Given the description of an element on the screen output the (x, y) to click on. 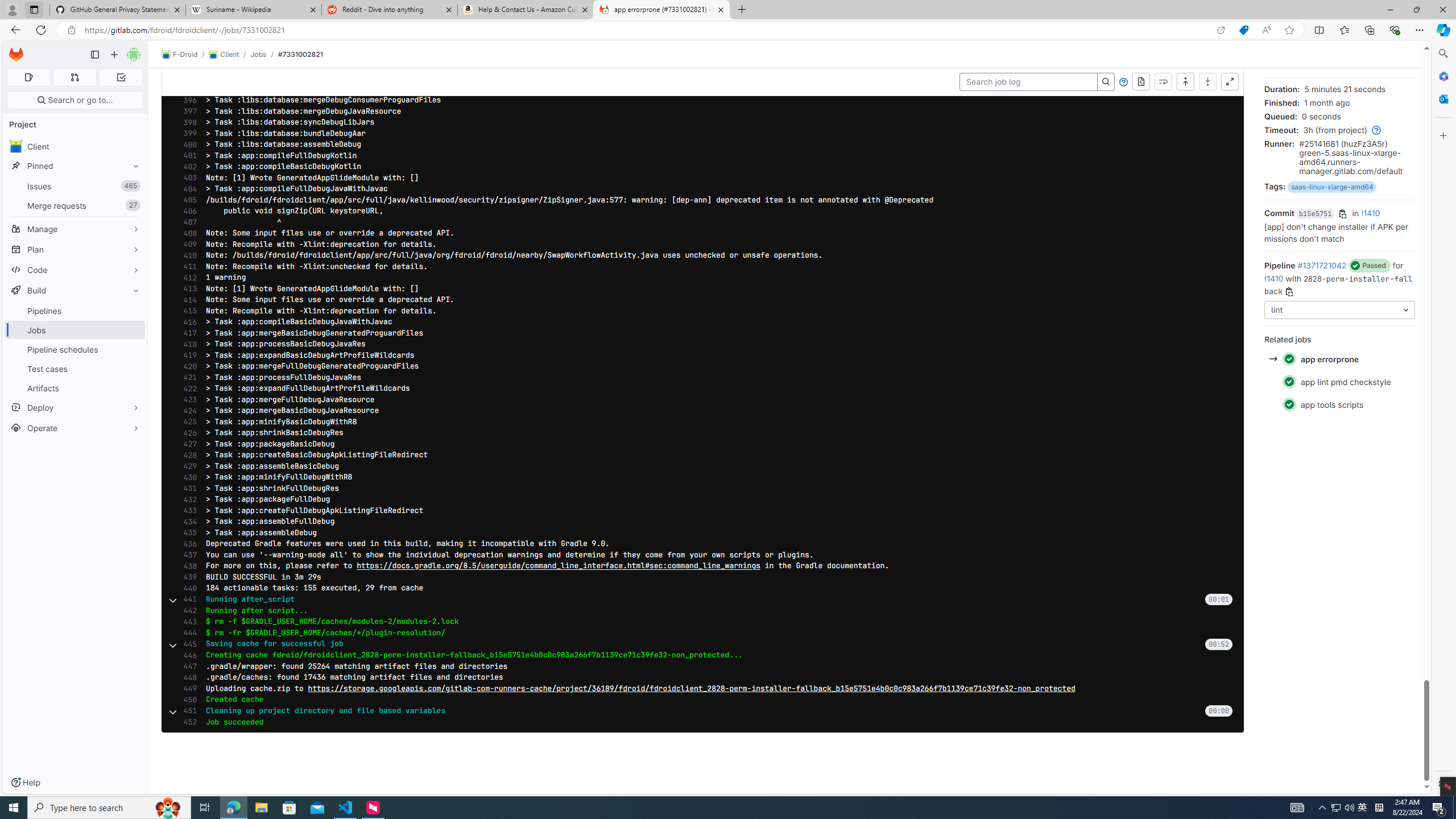
Pin Jobs (132, 329)
!1410 (1273, 278)
437 (186, 555)
435 (186, 532)
2828-perm-installer-fallback (1337, 284)
400 (186, 144)
398 (186, 122)
Merge requests27 (74, 205)
412 (186, 277)
Jobs/ (264, 53)
441 Running after_script 00:01 (702, 599)
431 (186, 488)
433 (186, 510)
